Given the description of an element on the screen output the (x, y) to click on. 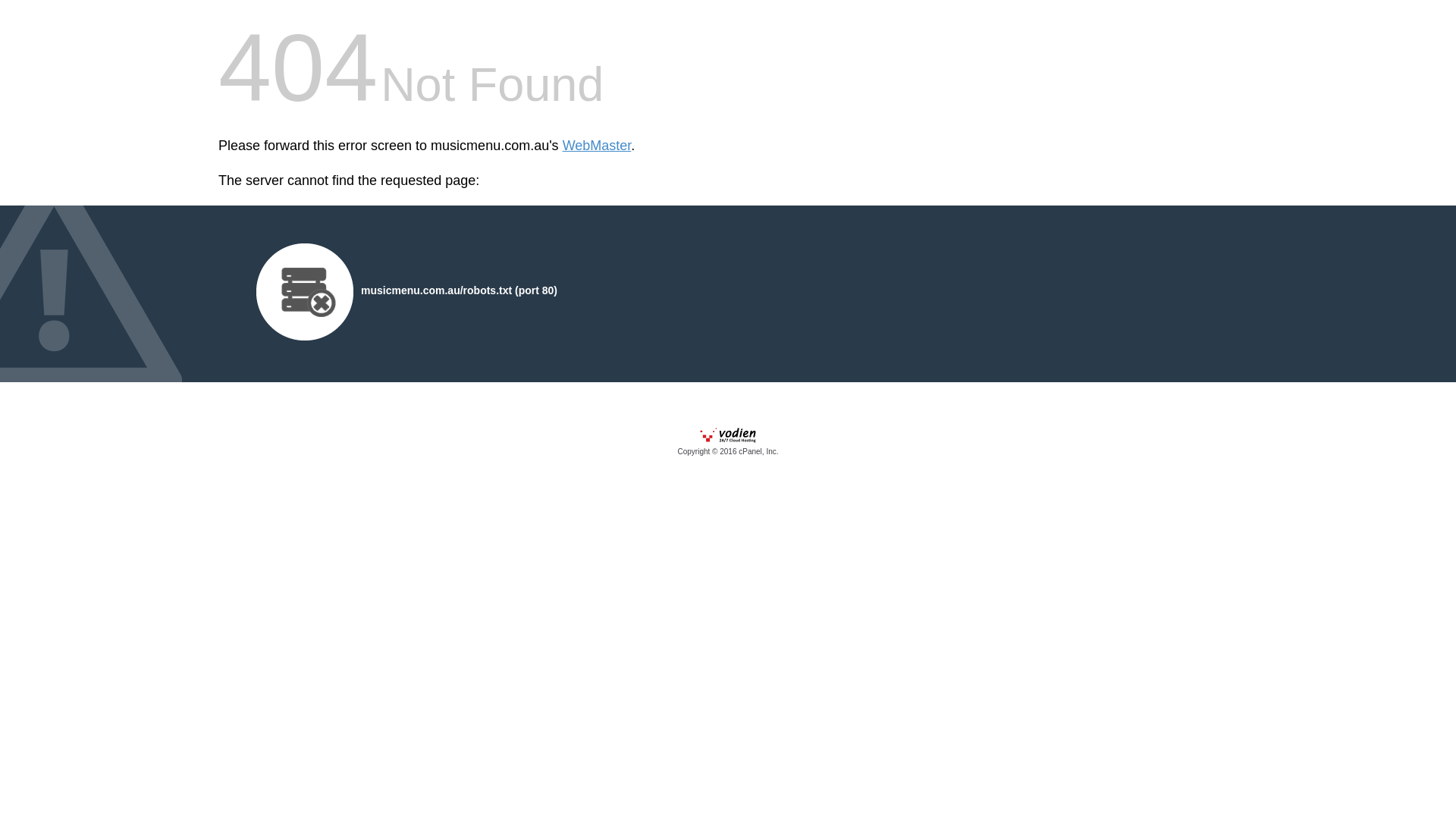
WebMaster Element type: text (596, 145)
